Given the description of an element on the screen output the (x, y) to click on. 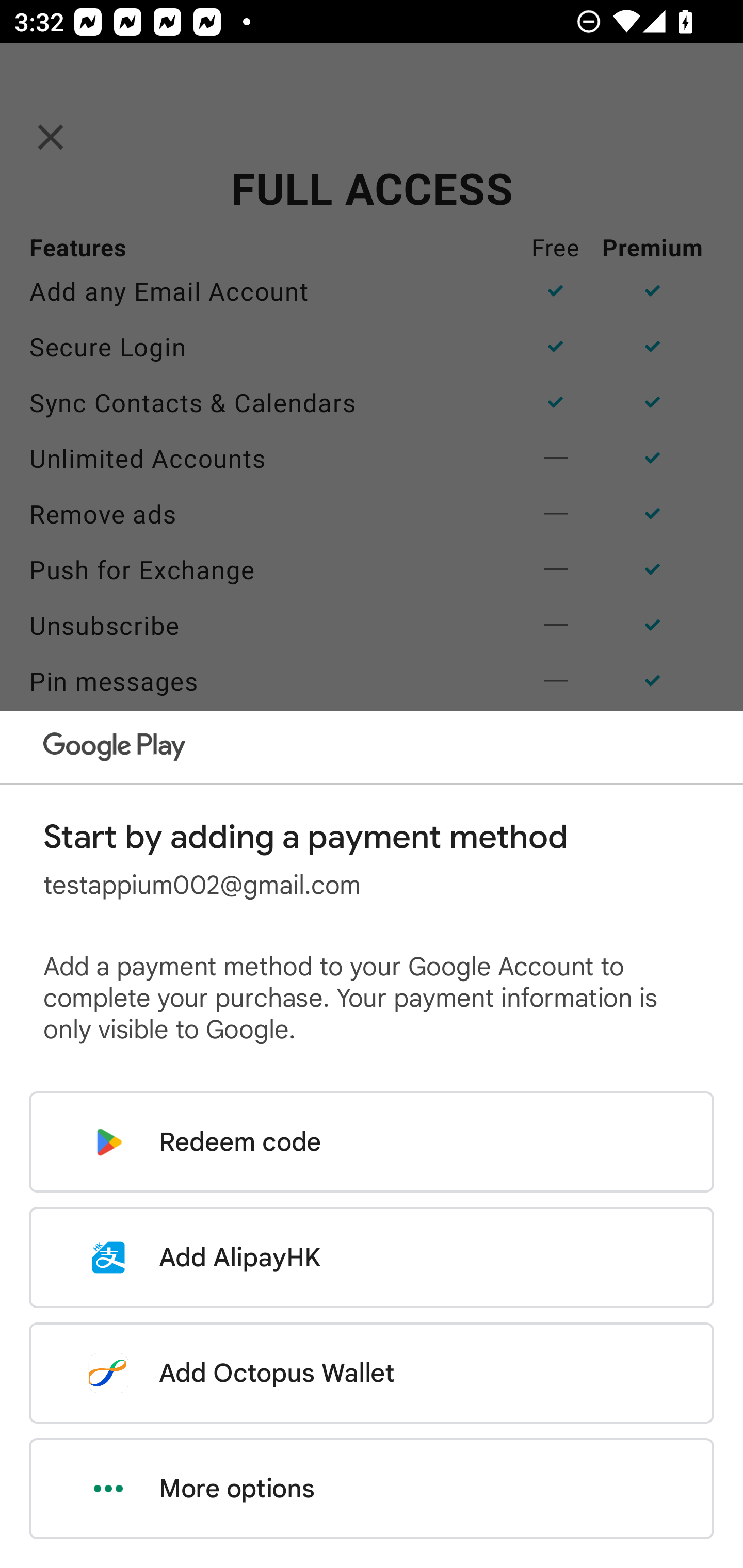
Redeem code (371, 1142)
Add AlipayHK (371, 1257)
Add Octopus Wallet (371, 1372)
More options (371, 1488)
